Given the description of an element on the screen output the (x, y) to click on. 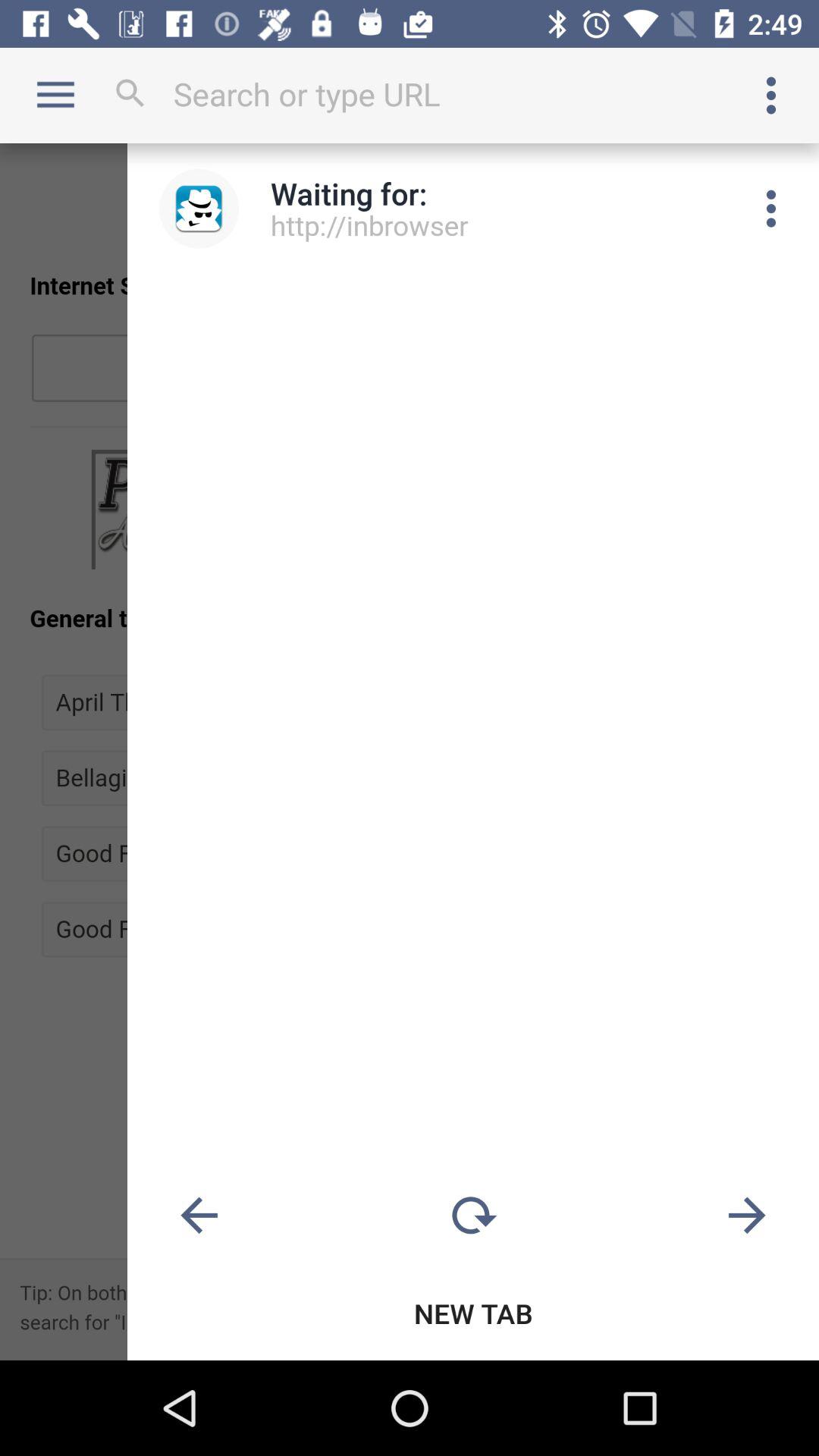
refresh (472, 1216)
